Given the description of an element on the screen output the (x, y) to click on. 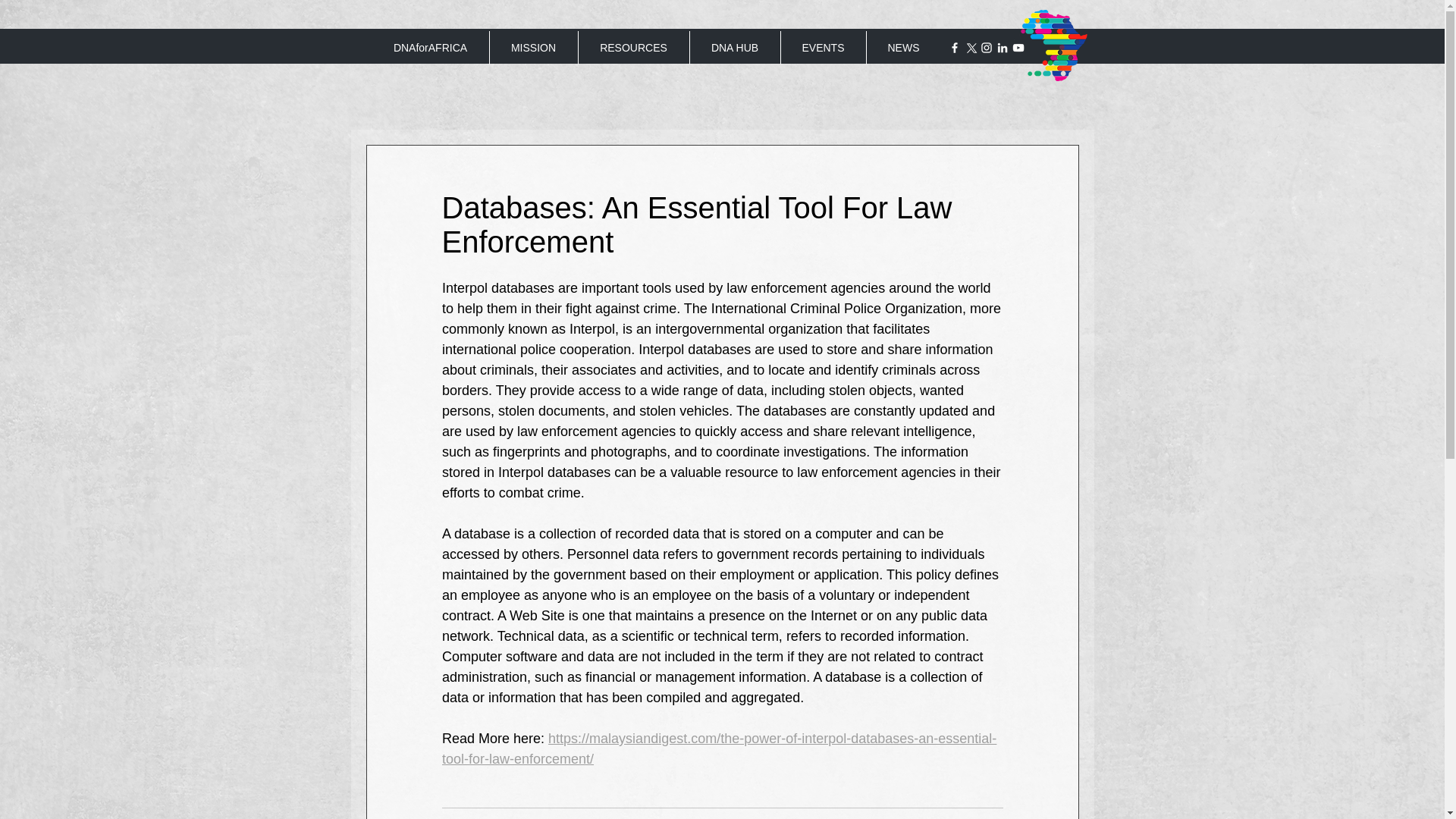
NEWS (903, 47)
DNAforAFRICA (429, 47)
EVENTS (821, 47)
RESOURCES (633, 47)
DNA HUB (733, 47)
MISSION (531, 47)
